Given the description of an element on the screen output the (x, y) to click on. 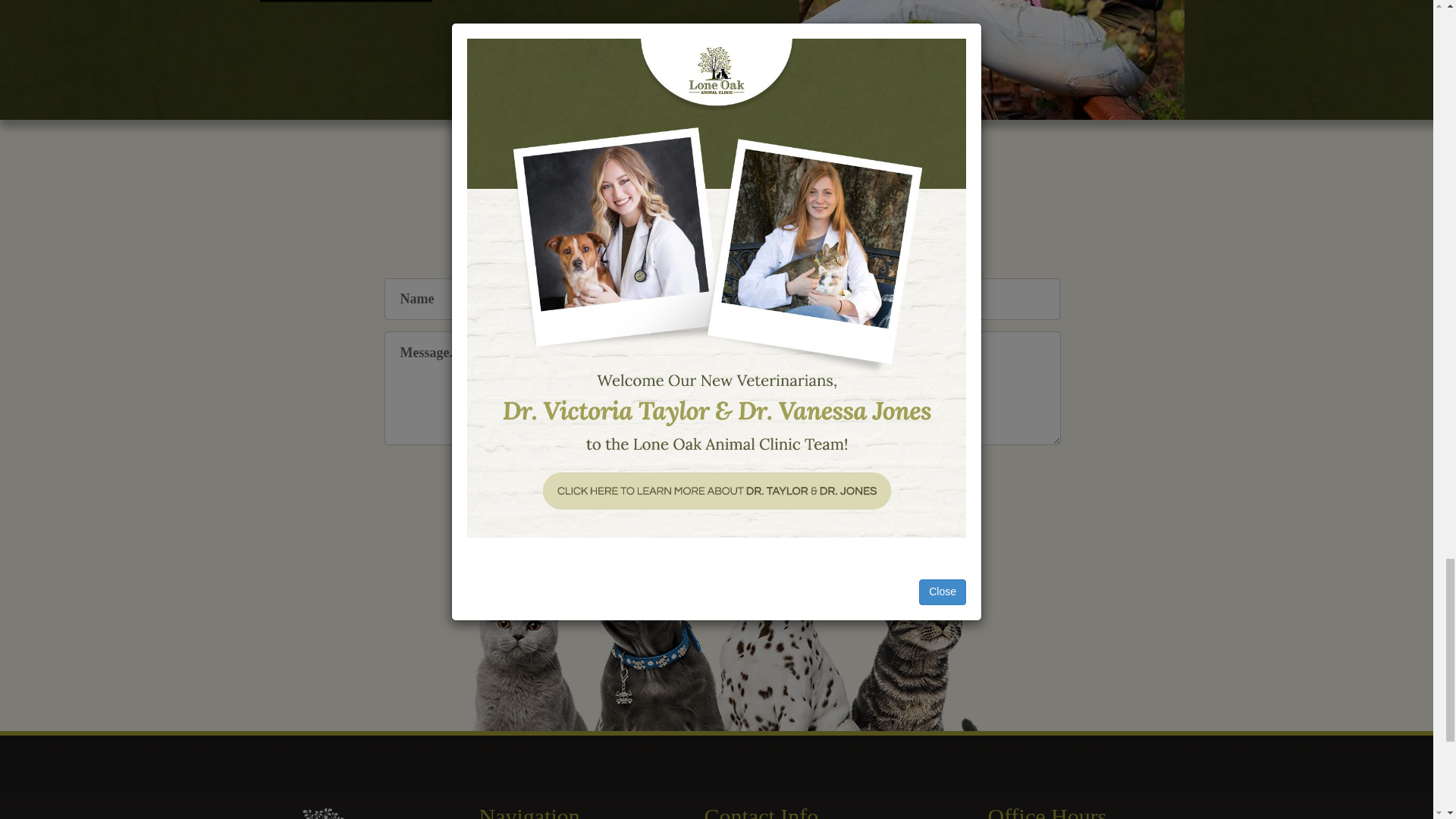
View All Services (345, 1)
Submit (721, 484)
Submit (721, 484)
